Given the description of an element on the screen output the (x, y) to click on. 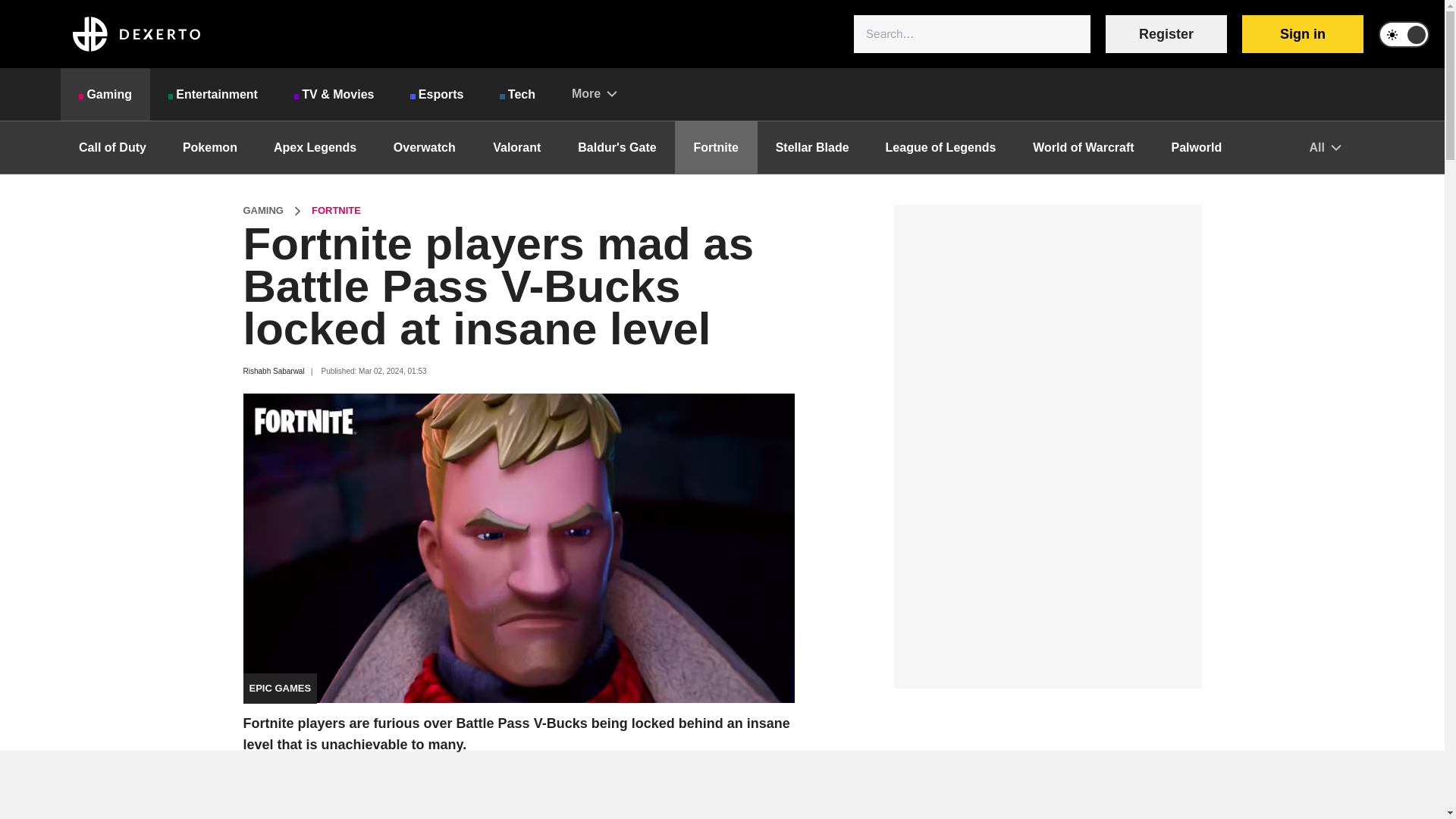
Baldur's Gate (616, 147)
Stellar Blade (812, 147)
Gaming (105, 93)
Fortnite (716, 147)
Palworld (1196, 147)
Tech (517, 93)
3rd party ad content (721, 785)
Pokemon (210, 147)
Valorant (516, 147)
Overwatch (424, 147)
